Given the description of an element on the screen output the (x, y) to click on. 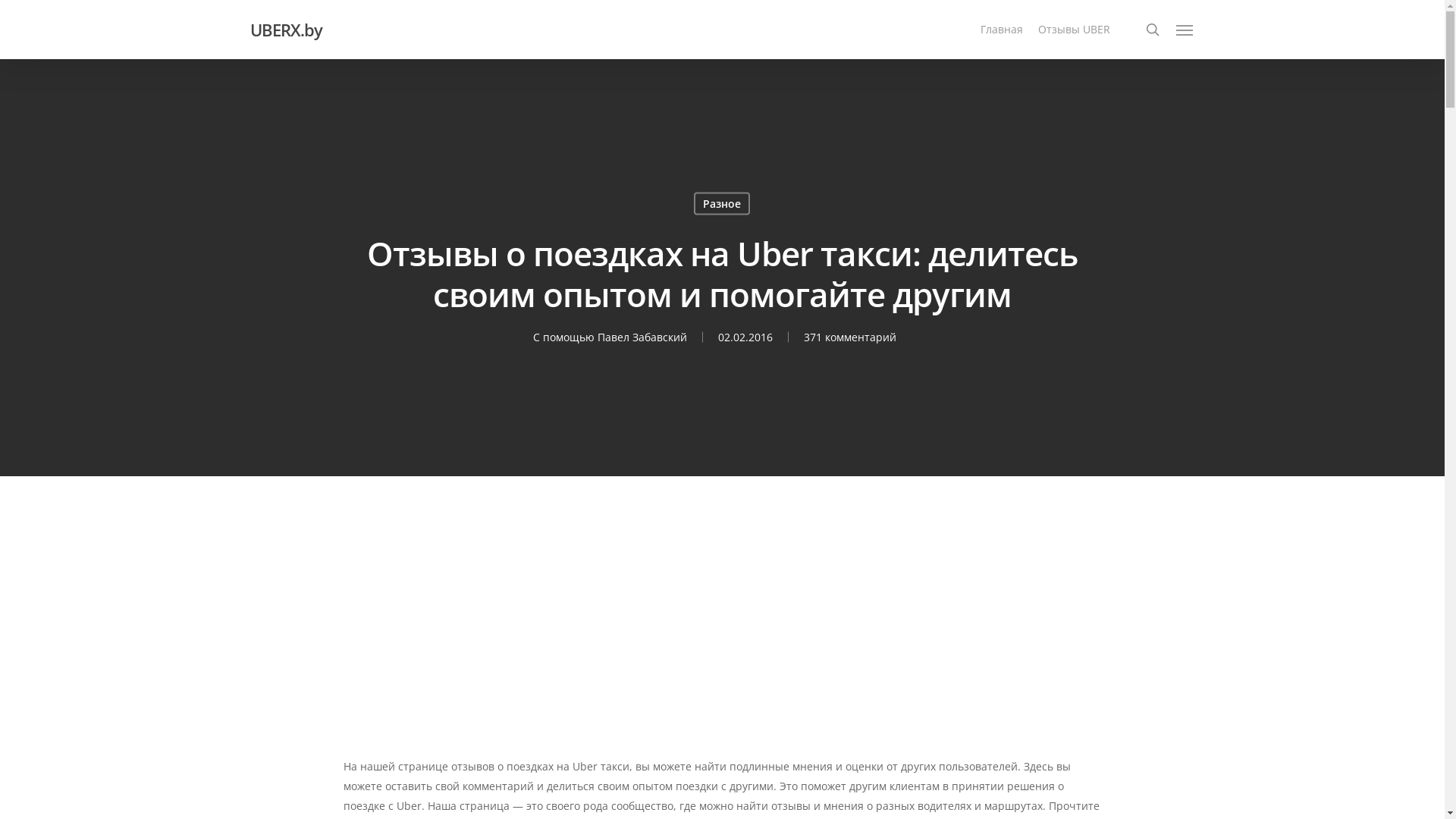
UBERX.by Element type: text (286, 29)
Advertisement Element type: hover (721, 642)
